Given the description of an element on the screen output the (x, y) to click on. 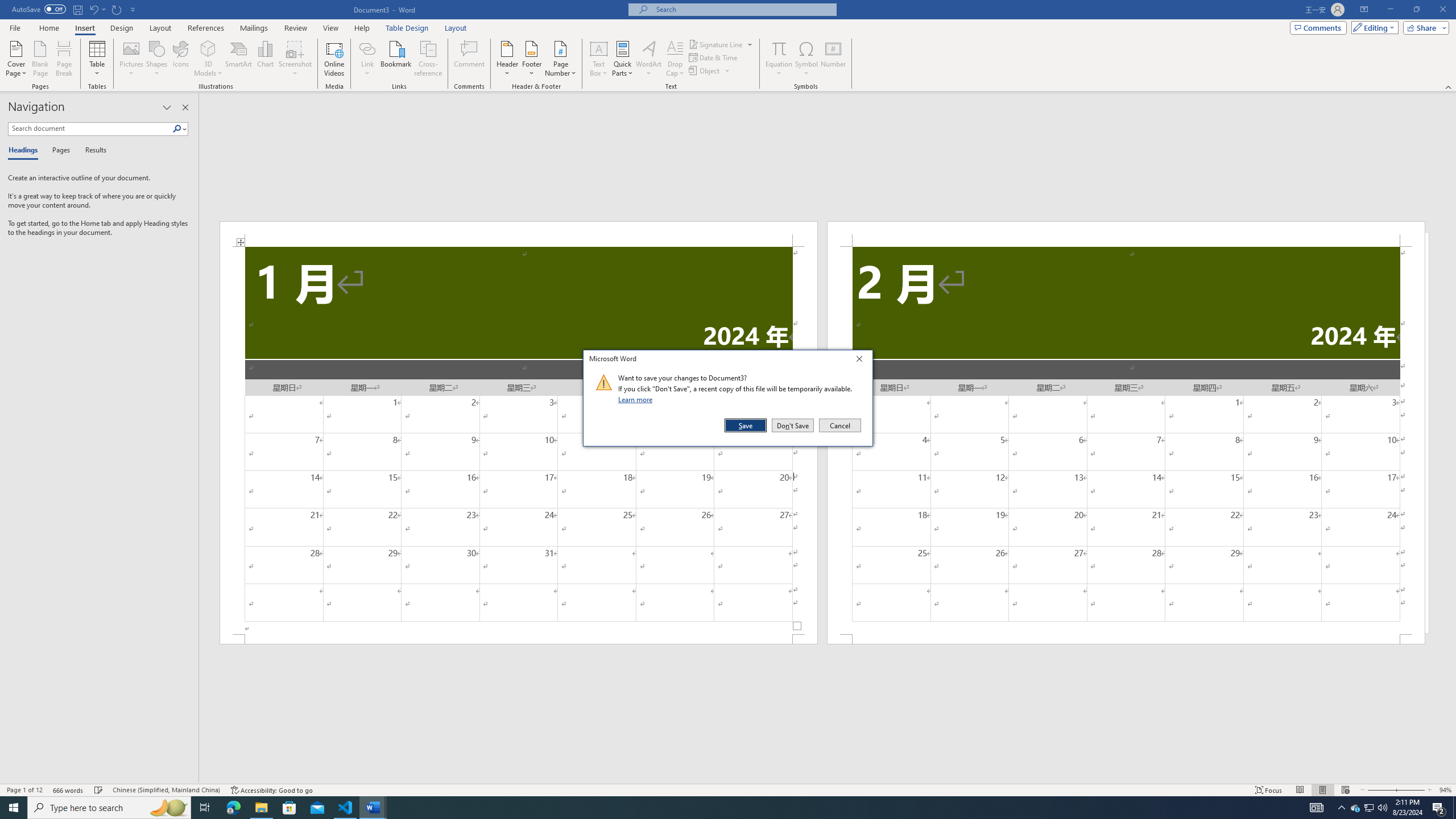
Start (13, 807)
Page Number (560, 58)
Q2790: 100% (1382, 807)
Repeat Doc Close (117, 9)
Notification Chevron (1341, 807)
Web Layout (1344, 790)
Footer -Section 2- (1126, 638)
Date & Time... (714, 56)
Mode (1372, 27)
Show desktop (1454, 807)
Class: MsoCommandBar (728, 789)
